Given the description of an element on the screen output the (x, y) to click on. 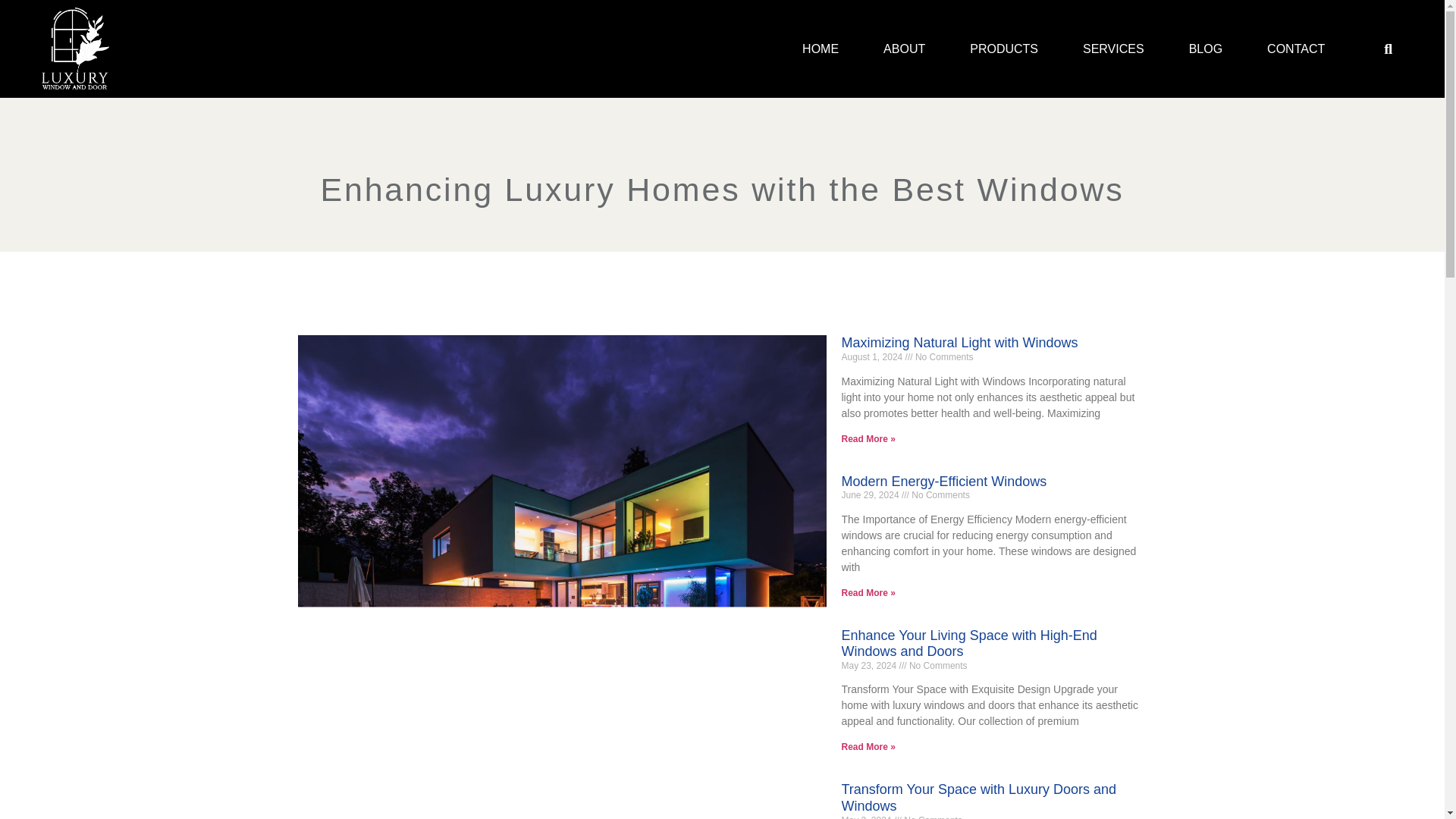
SERVICES (1112, 48)
BLOG (1205, 48)
CONTACT (1295, 48)
PRODUCTS (1003, 48)
ABOUT (903, 48)
HOME (820, 48)
